Given the description of an element on the screen output the (x, y) to click on. 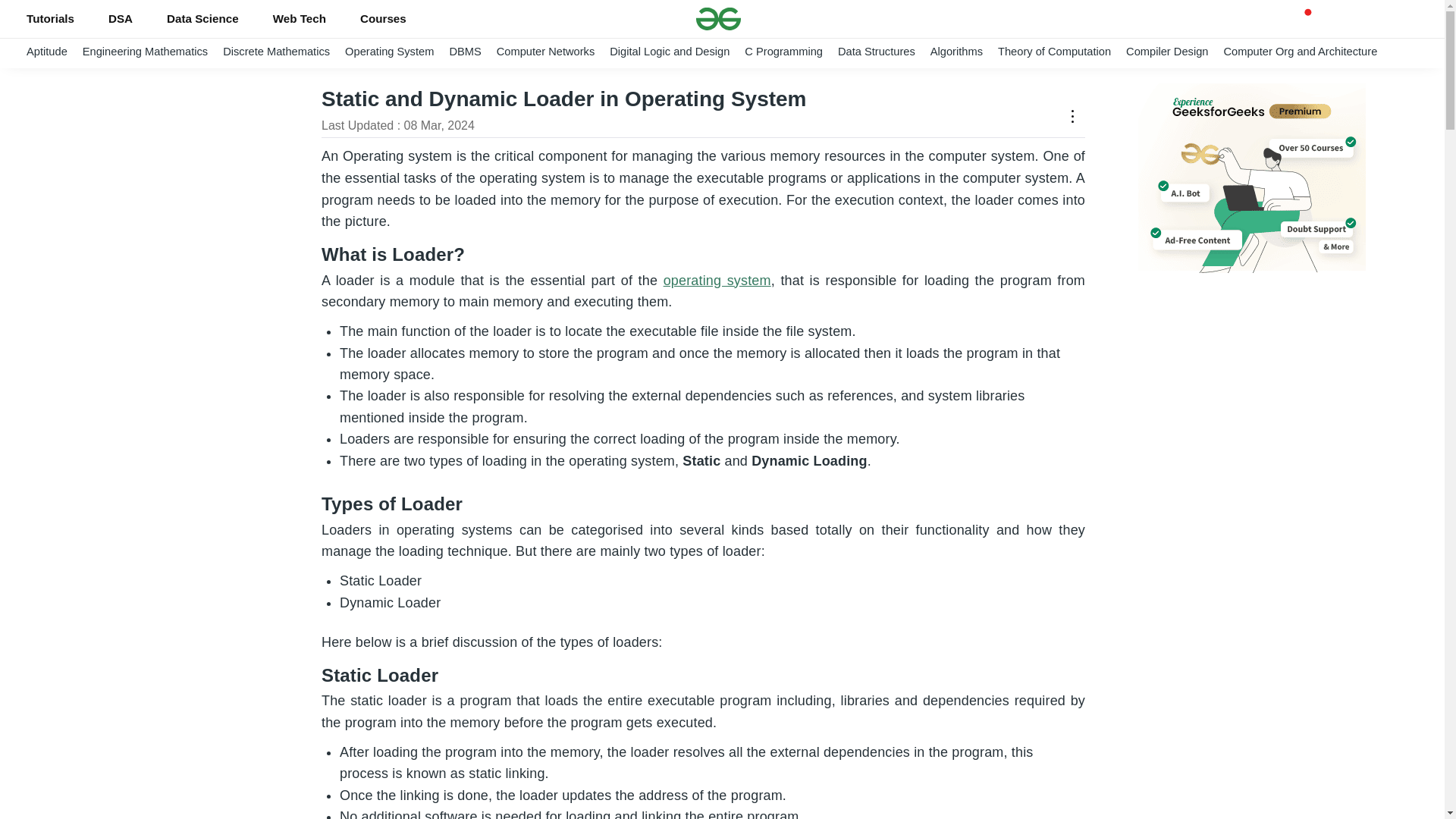
3rd party ad content (1251, 374)
